Given the description of an element on the screen output the (x, y) to click on. 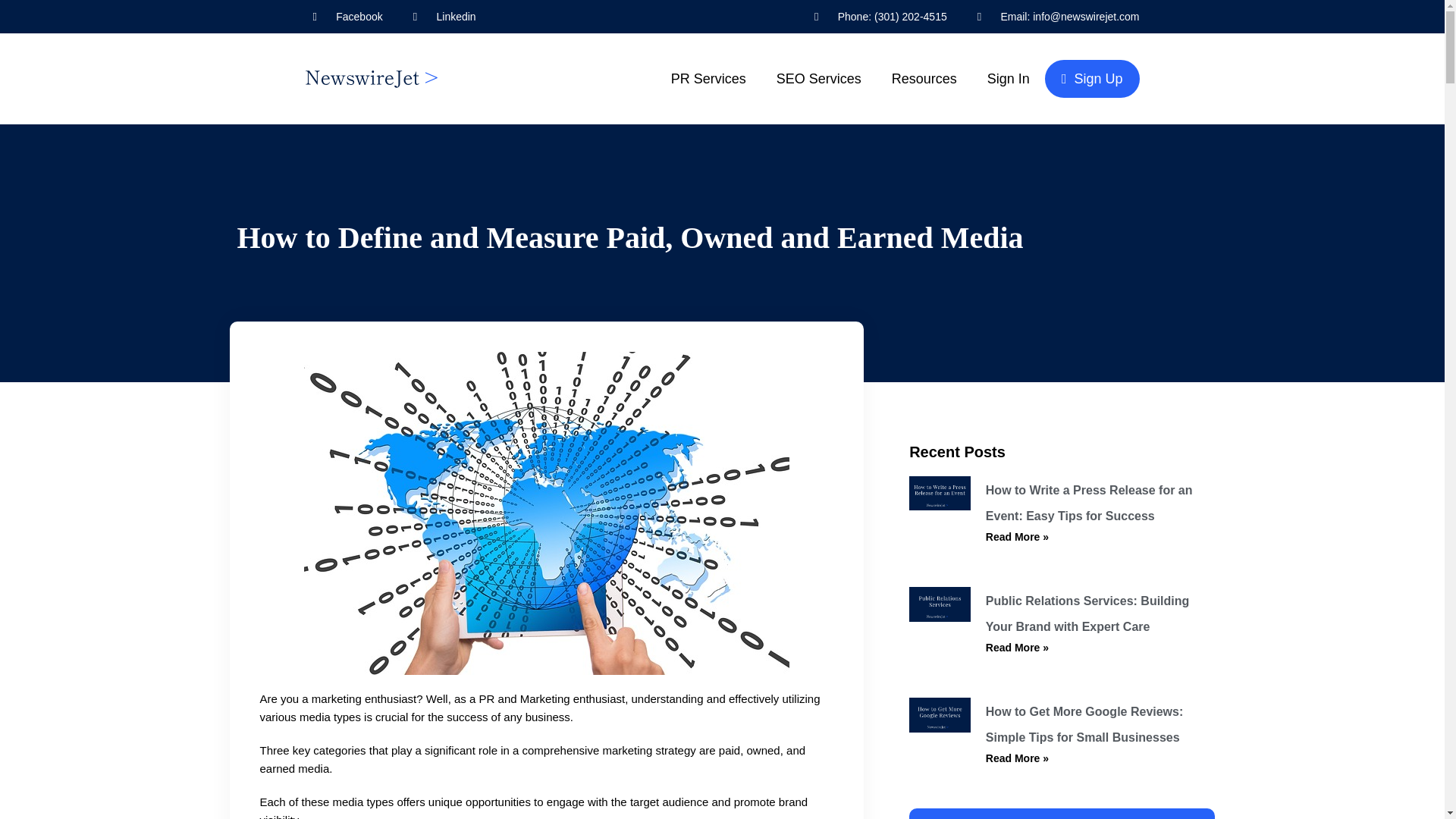
Facebook (347, 16)
Linkedin (444, 16)
Sign Up (1092, 78)
SEO Services (818, 78)
Sign In (1008, 78)
PR Services (708, 78)
Resources (924, 78)
